Given the description of an element on the screen output the (x, y) to click on. 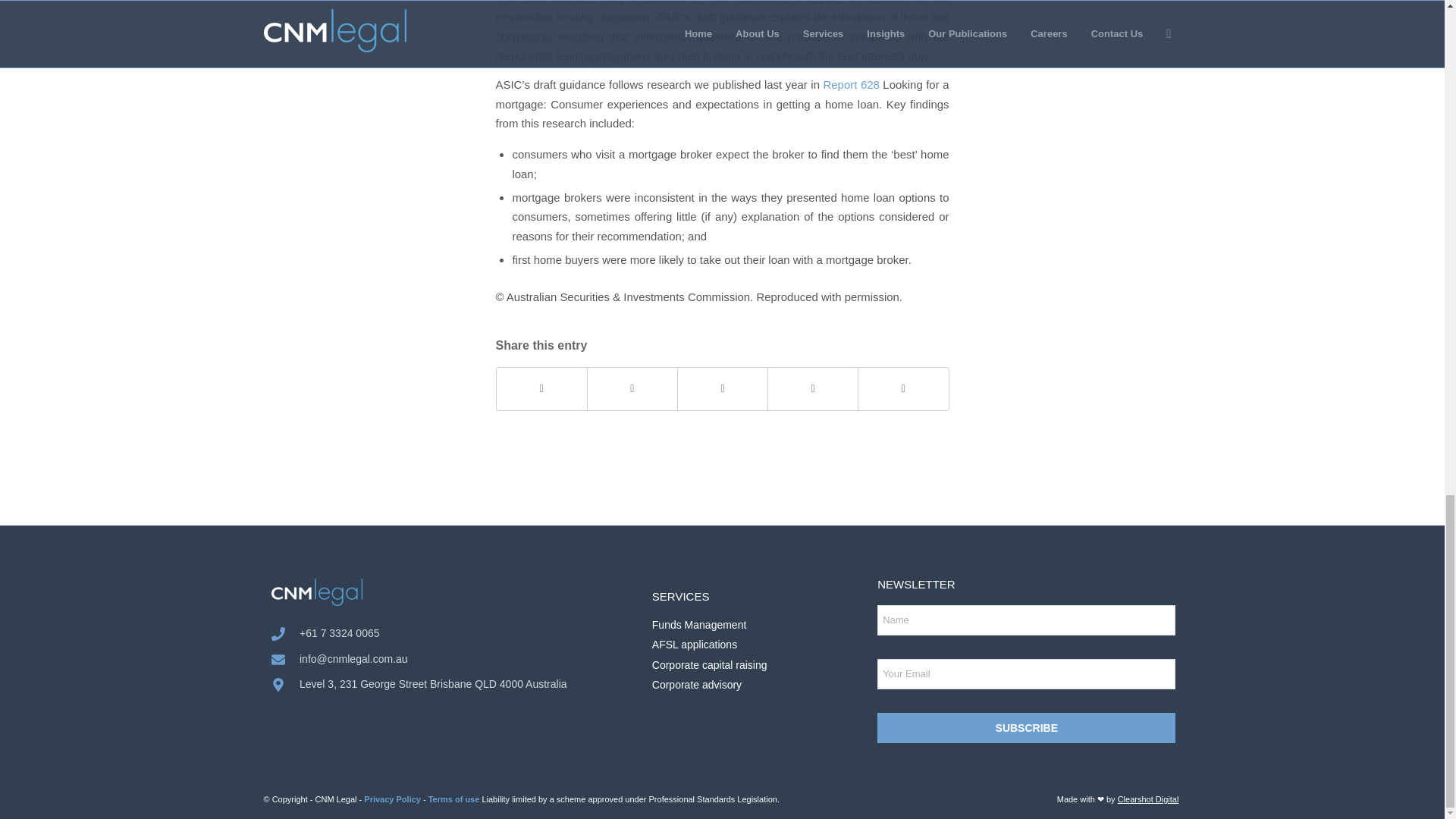
SUBSCRIBE (1025, 727)
AFSL applications (760, 644)
Privacy Policy (392, 798)
Report 628 (851, 83)
Funds Management (760, 625)
Privacy Policy (392, 798)
Corporate capital raising (760, 665)
Corporate advisory (760, 684)
Terms of use (454, 798)
